Given the description of an element on the screen output the (x, y) to click on. 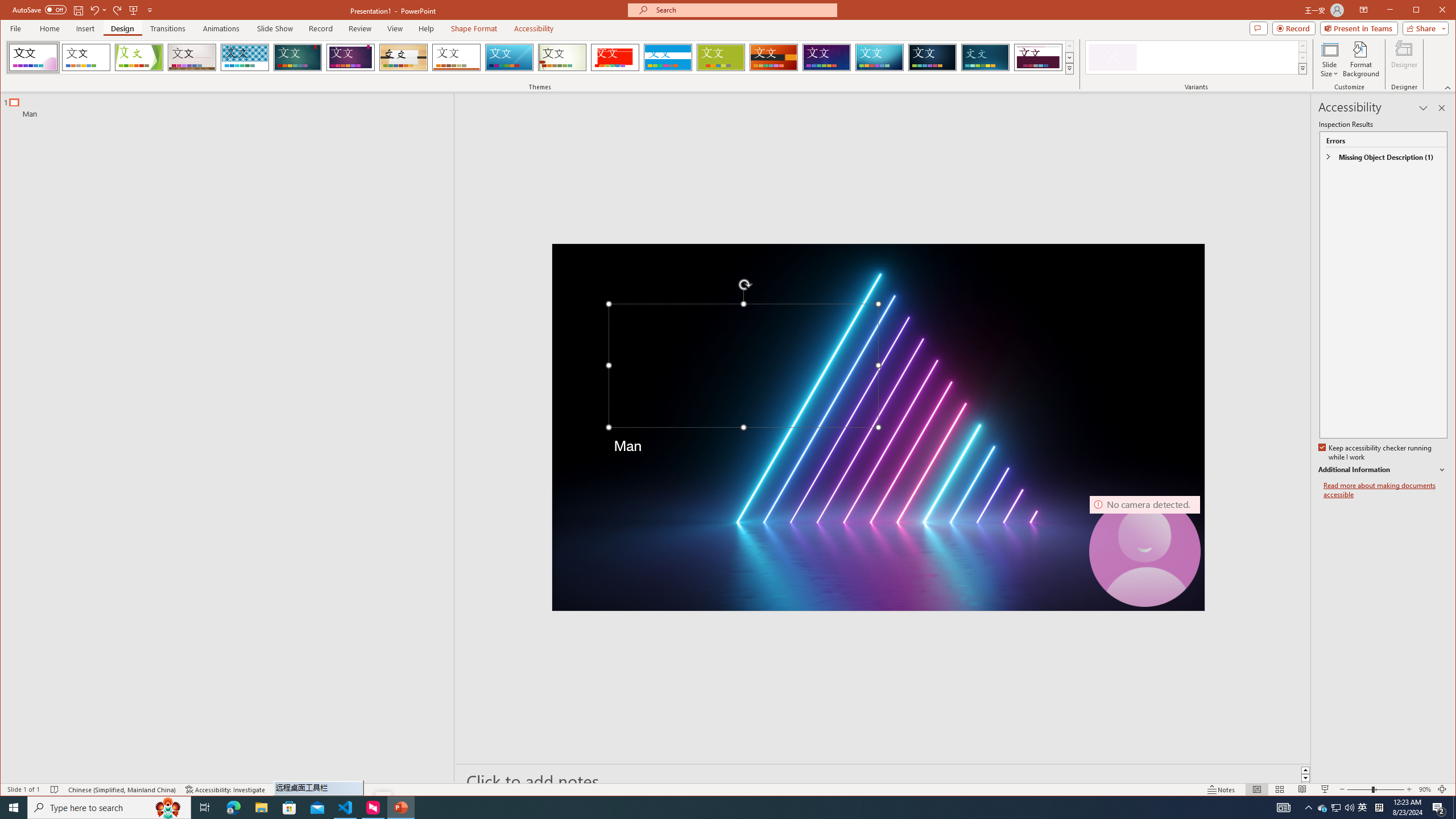
Integral (244, 57)
Ion (297, 57)
Neon laser lights aligned to form a triangle (877, 427)
